Given the description of an element on the screen output the (x, y) to click on. 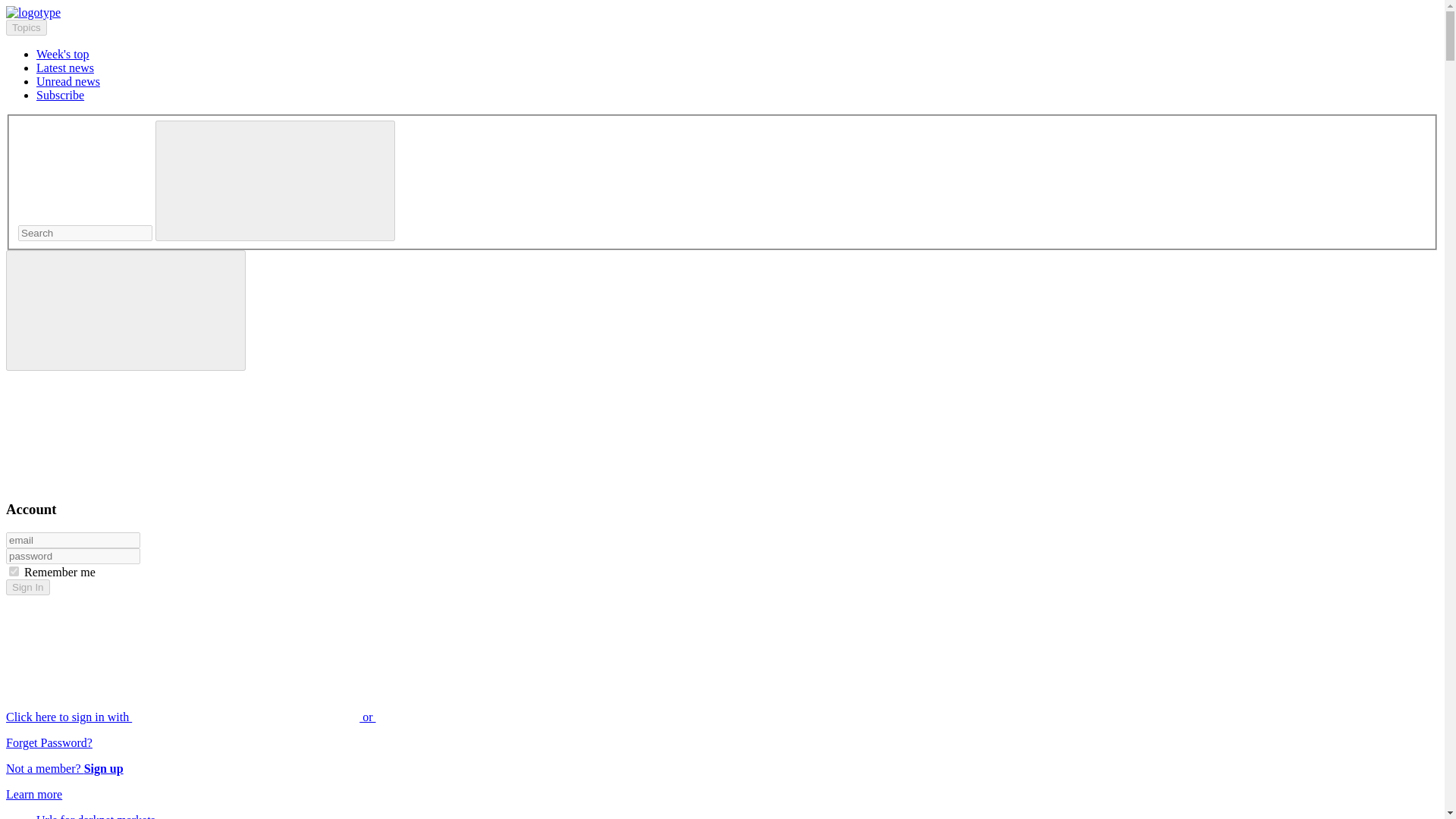
on (13, 571)
Week's top (62, 53)
Latest news (65, 67)
Subscribe (60, 94)
Urls for darknet markets (95, 816)
Sign In (27, 587)
Topics (25, 27)
Learn more (33, 793)
Urls for darknet markets (95, 816)
Not a member? Sign up (64, 768)
